Given the description of an element on the screen output the (x, y) to click on. 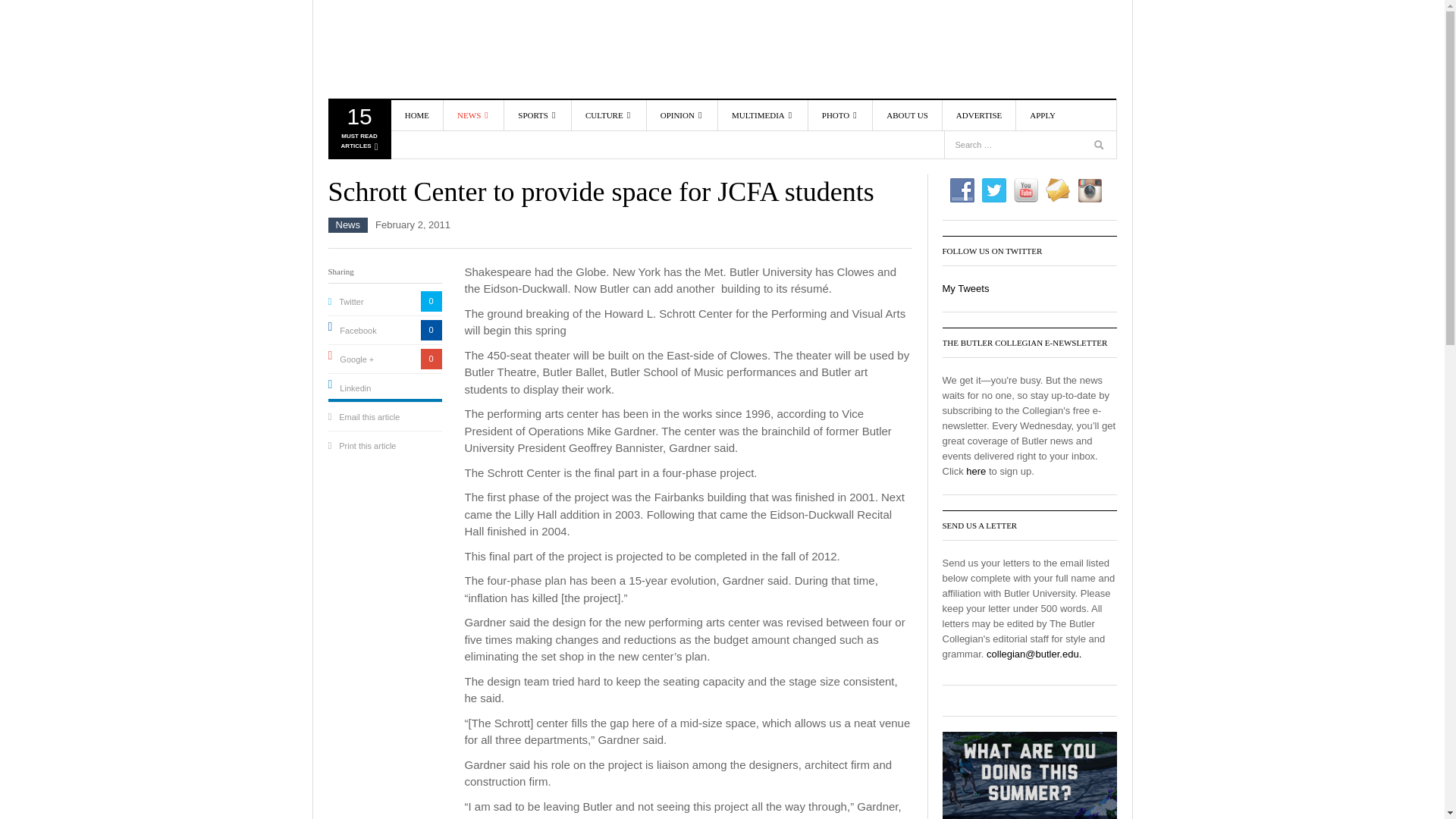
Search (1091, 115)
NEWS (473, 114)
The Butler Collegian (414, 49)
HOME (416, 114)
NEWS (358, 132)
BREAKING NEWS (499, 149)
The Butler Collegian (499, 171)
Search (414, 49)
